Given the description of an element on the screen output the (x, y) to click on. 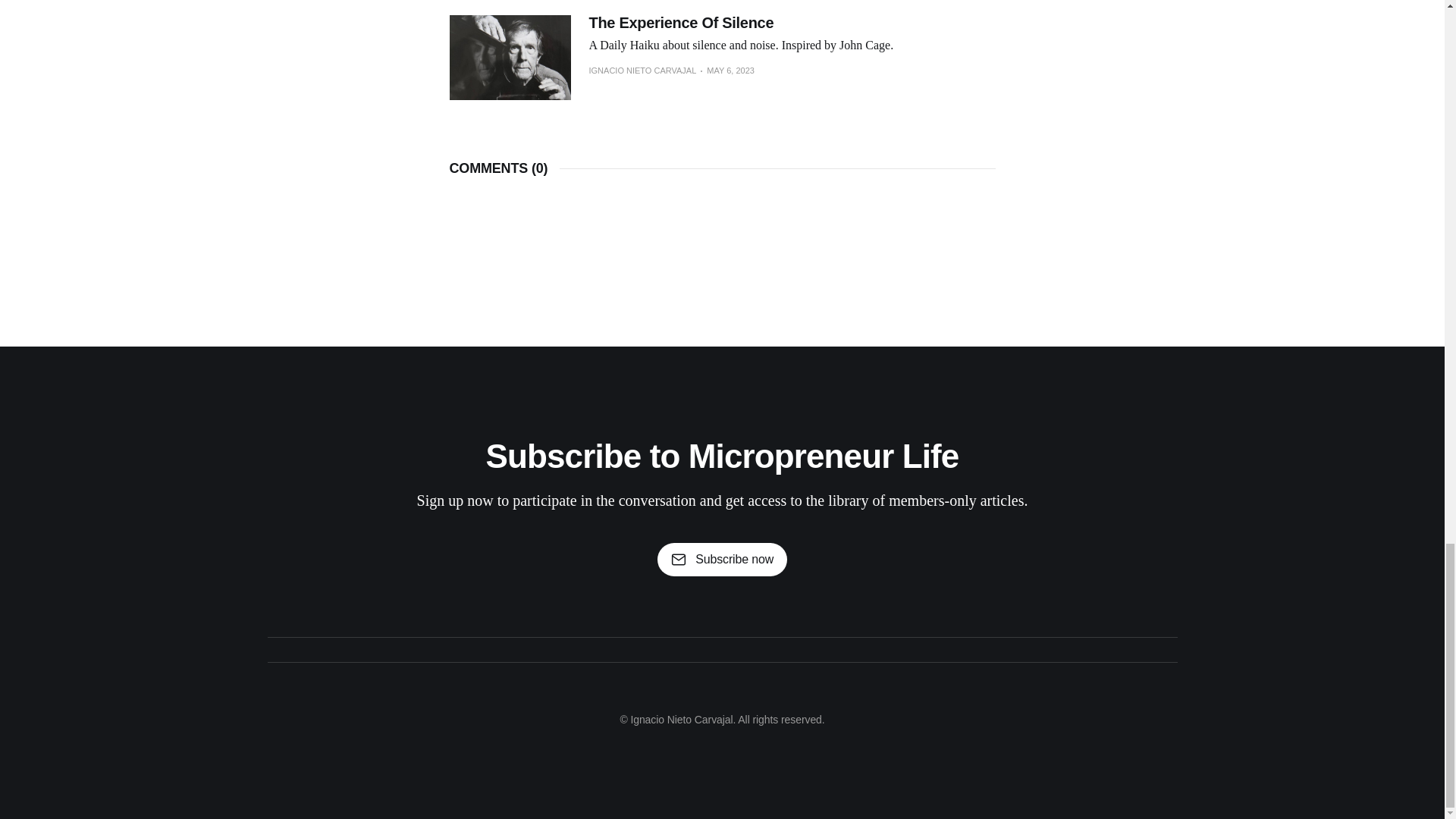
Subscribe now (722, 559)
